Given the description of an element on the screen output the (x, y) to click on. 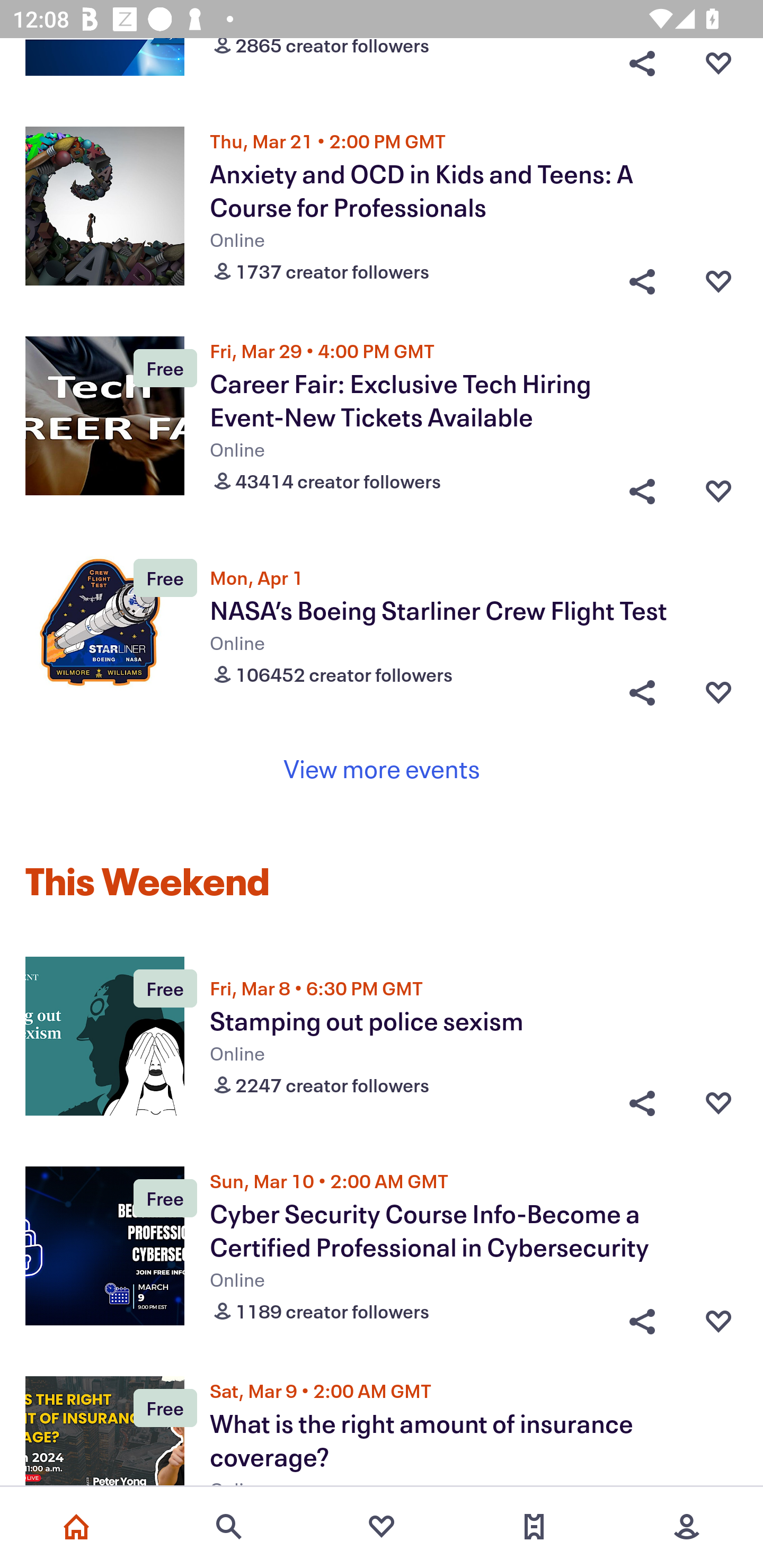
Share button (642, 69)
Favorite button (718, 69)
Share button (642, 276)
Favorite button (718, 276)
Share button (642, 486)
Favorite button (718, 486)
Share button (642, 692)
Favorite button (718, 692)
View more events (381, 768)
Share button (642, 1102)
Favorite button (718, 1102)
Share button (642, 1317)
Favorite button (718, 1317)
Home (76, 1526)
Search events (228, 1526)
Favorites (381, 1526)
Tickets (533, 1526)
More (686, 1526)
